Given the description of an element on the screen output the (x, y) to click on. 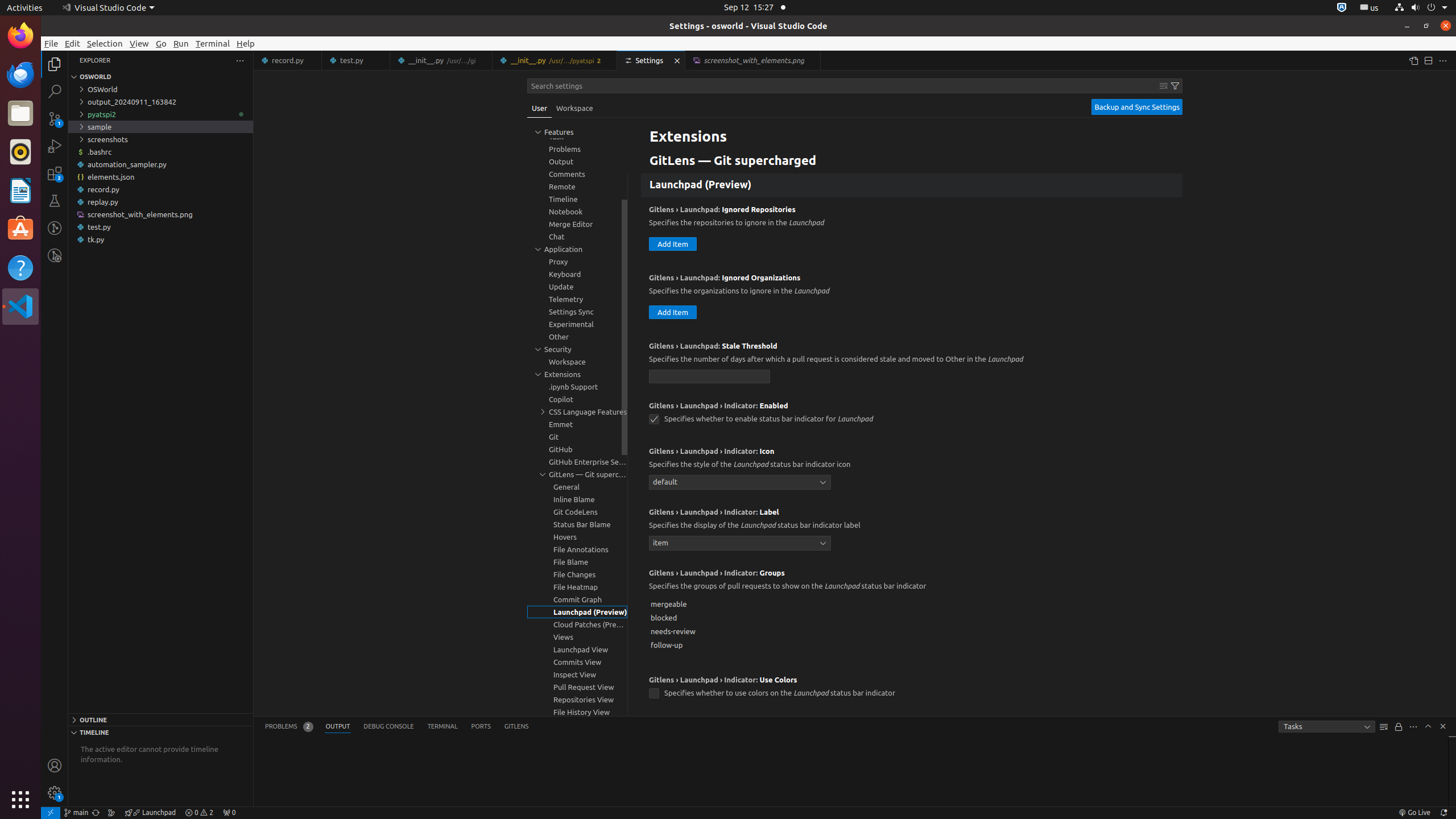
CSS Language Features, group Element type: tree-item (577, 411)
Git CodeLens, group Element type: tree-item (577, 511)
Outline Section Element type: push-button (160, 719)
Testing Element type: page-tab (54, 200)
